Given the description of an element on the screen output the (x, y) to click on. 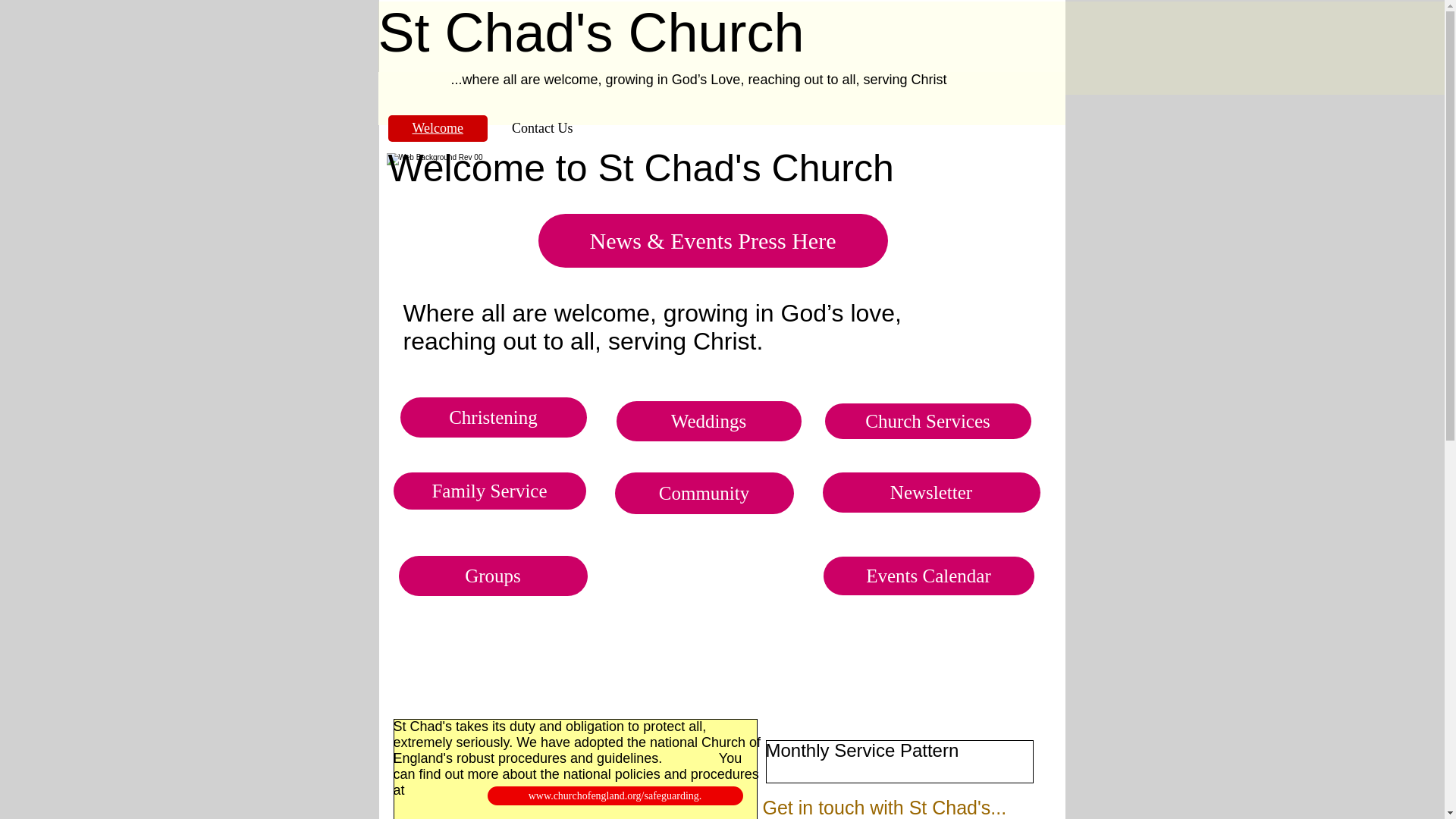
Church Services (927, 420)
Community (703, 493)
Events Calendar (928, 575)
Contact Us (541, 128)
Newsletter (930, 492)
Family Service (489, 490)
Get in touch with St Chad's... (884, 807)
Groups (493, 576)
Monthly Service Pattern (862, 750)
Welcome (437, 128)
Weddings (707, 421)
Christening (493, 417)
